Given the description of an element on the screen output the (x, y) to click on. 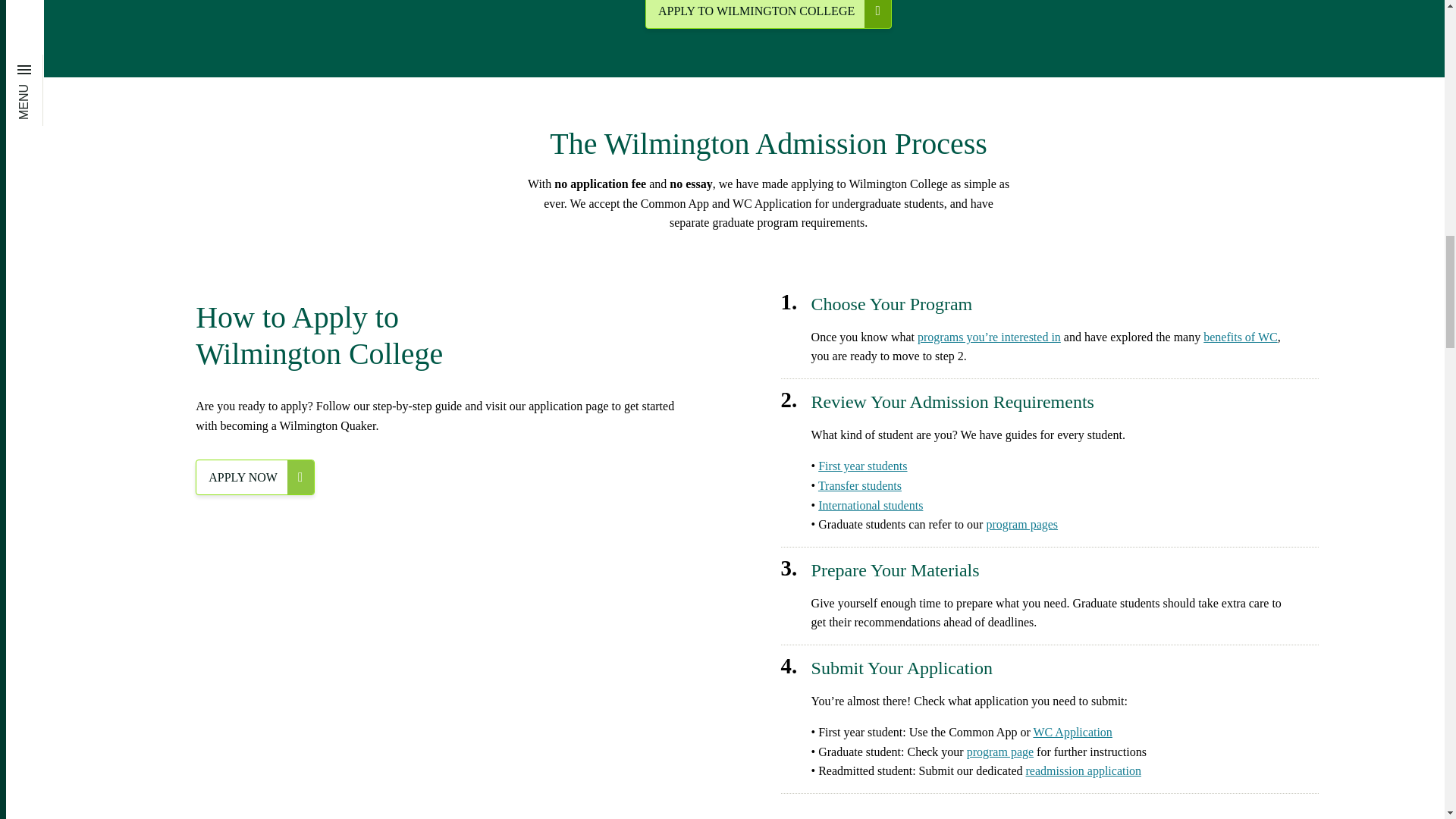
APPLY NOW (254, 477)
WC Application (1072, 731)
Transfer students (859, 485)
program pages (1021, 523)
readmission application (1082, 770)
benefits of WC (1240, 336)
program page (999, 751)
International students (870, 504)
First year students (862, 465)
APPLY TO WILMINGTON COLLEGE (768, 14)
